Given the description of an element on the screen output the (x, y) to click on. 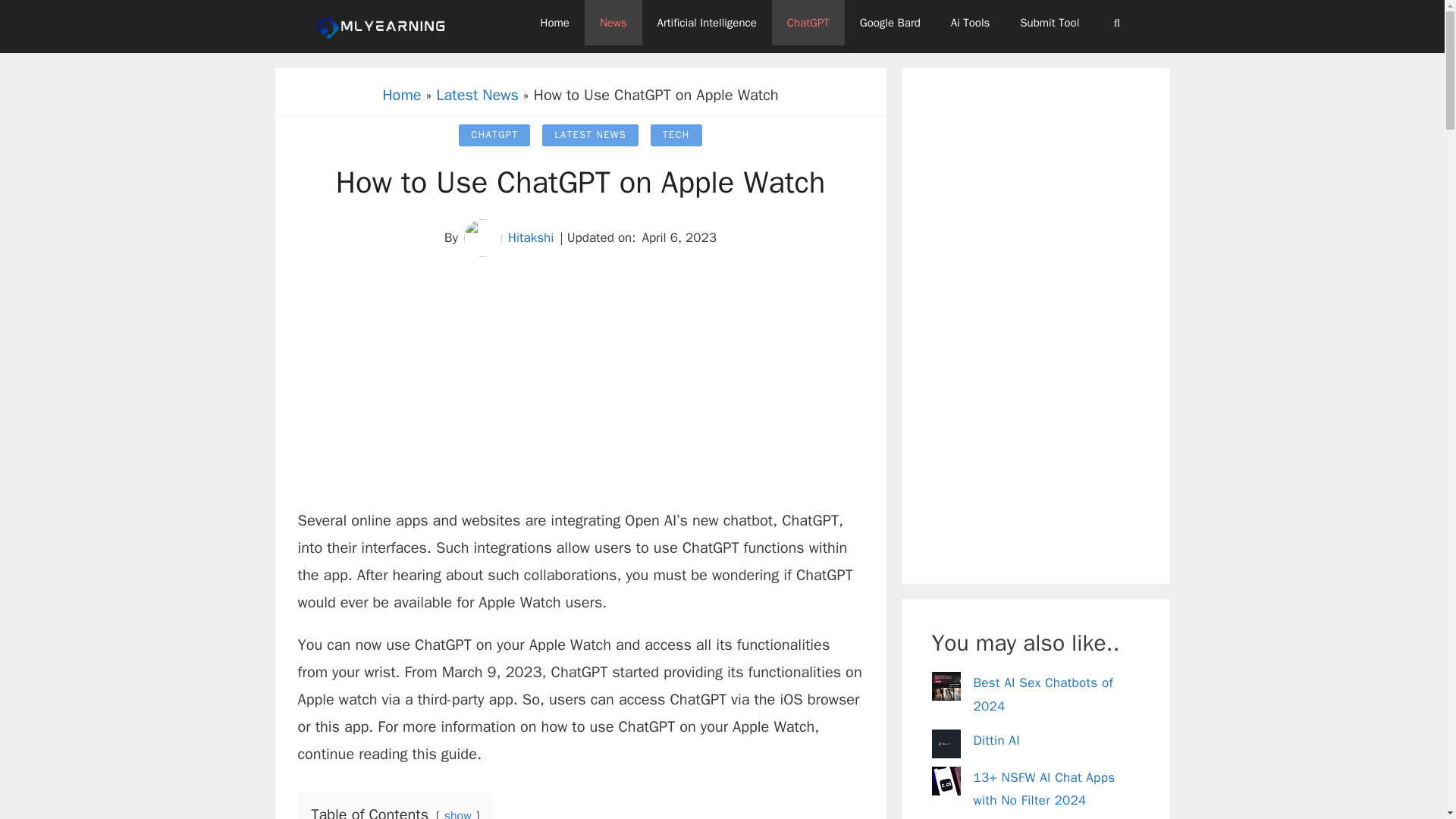
Ai Tools (971, 22)
Submit Tool (1049, 22)
Latest News (477, 94)
Best AI Sex Chatbots of 2024 (1043, 694)
Advertisement (580, 393)
LATEST NEWS (590, 135)
How to Use ChatGPT on Apple Watch (580, 181)
Home (555, 22)
Google Bard (890, 22)
Artificial Intelligence (706, 22)
